Given the description of an element on the screen output the (x, y) to click on. 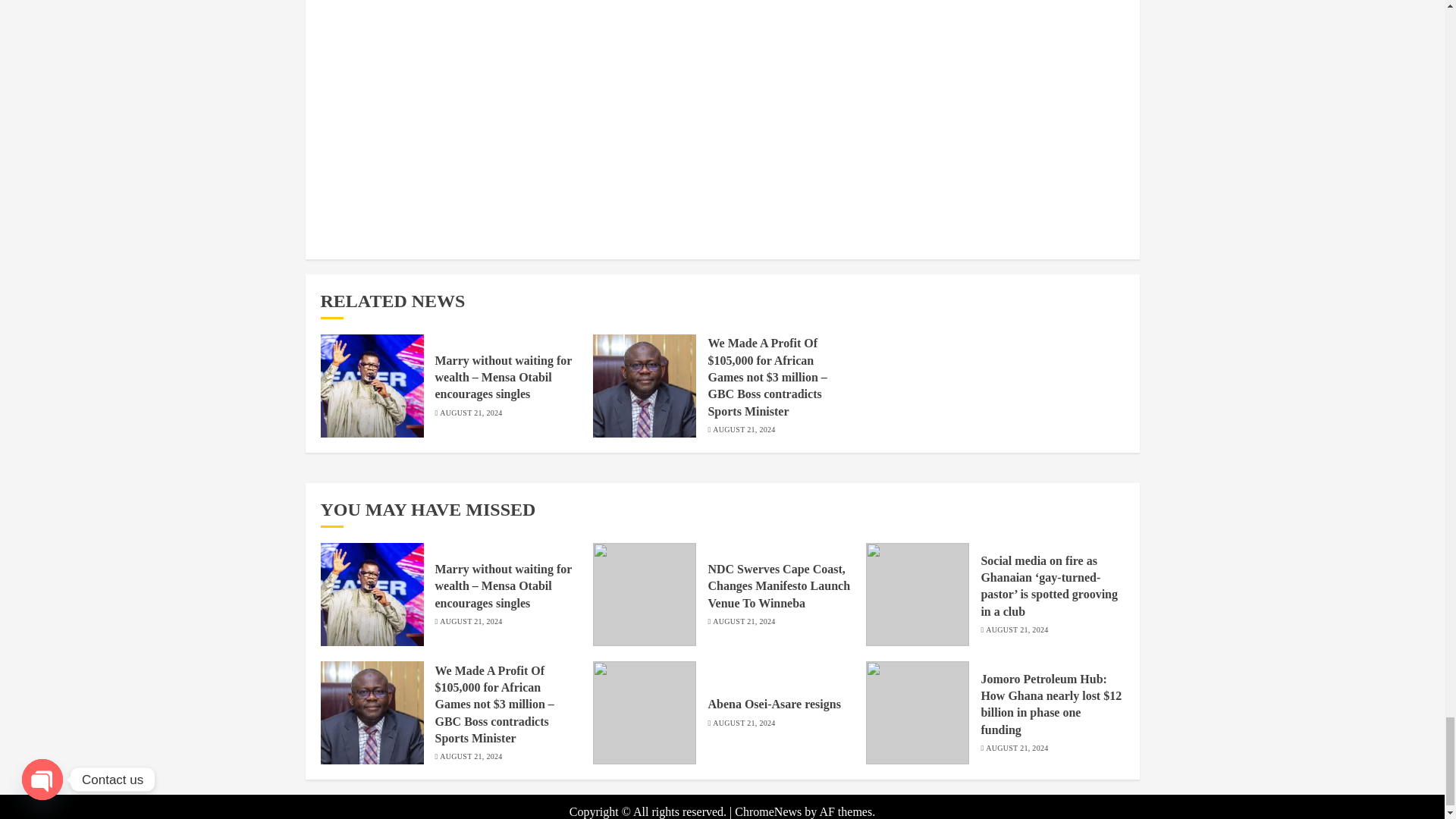
AUGUST 21, 2024 (470, 621)
AUGUST 21, 2024 (743, 429)
AUGUST 21, 2024 (470, 412)
AUGUST 21, 2024 (743, 621)
